Given the description of an element on the screen output the (x, y) to click on. 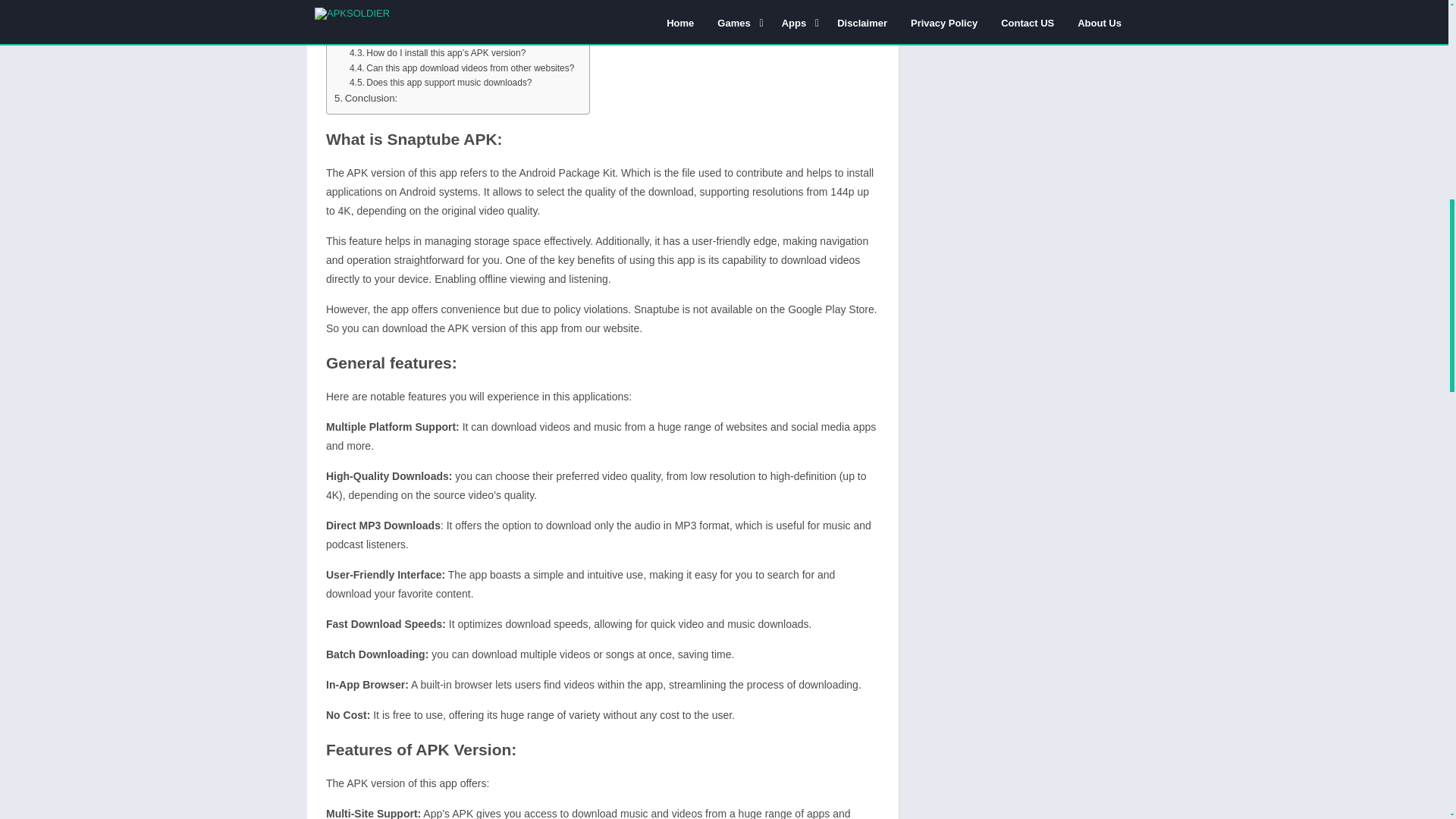
Can this app download videos in HD? (433, 38)
Features of APK Version: (395, 0)
FAQs: (353, 9)
Can this app download videos from other websites? (461, 68)
Conclusion: (365, 98)
Does this app support music downloads? (440, 83)
